Given the description of an element on the screen output the (x, y) to click on. 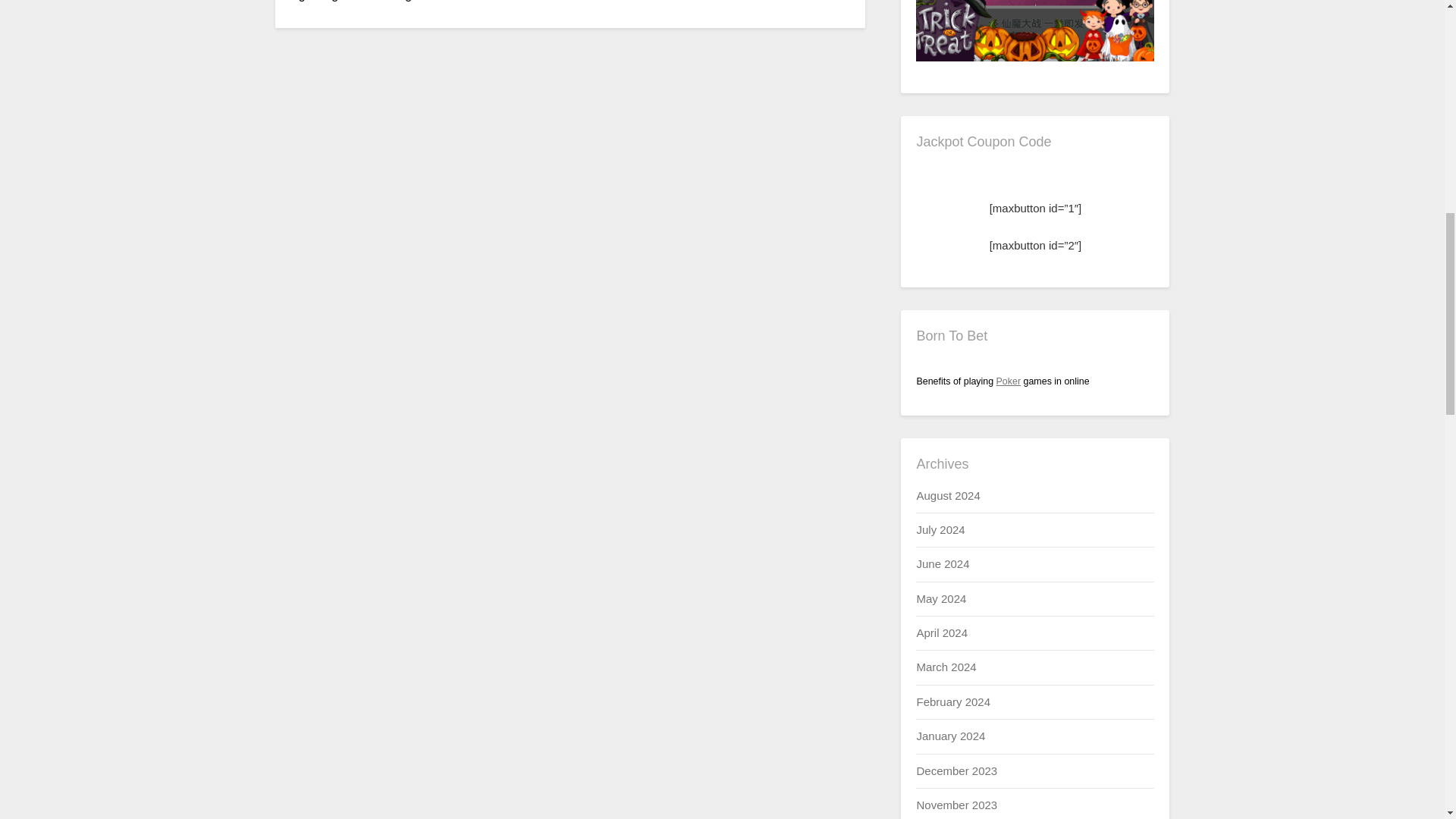
June 2024 (942, 563)
Poker (1008, 380)
November 2023 (956, 804)
April 2024 (941, 632)
February 2024 (952, 701)
August 2024 (947, 495)
December 2023 (956, 770)
January 2024 (950, 735)
May 2024 (940, 598)
July 2024 (939, 529)
